Given the description of an element on the screen output the (x, y) to click on. 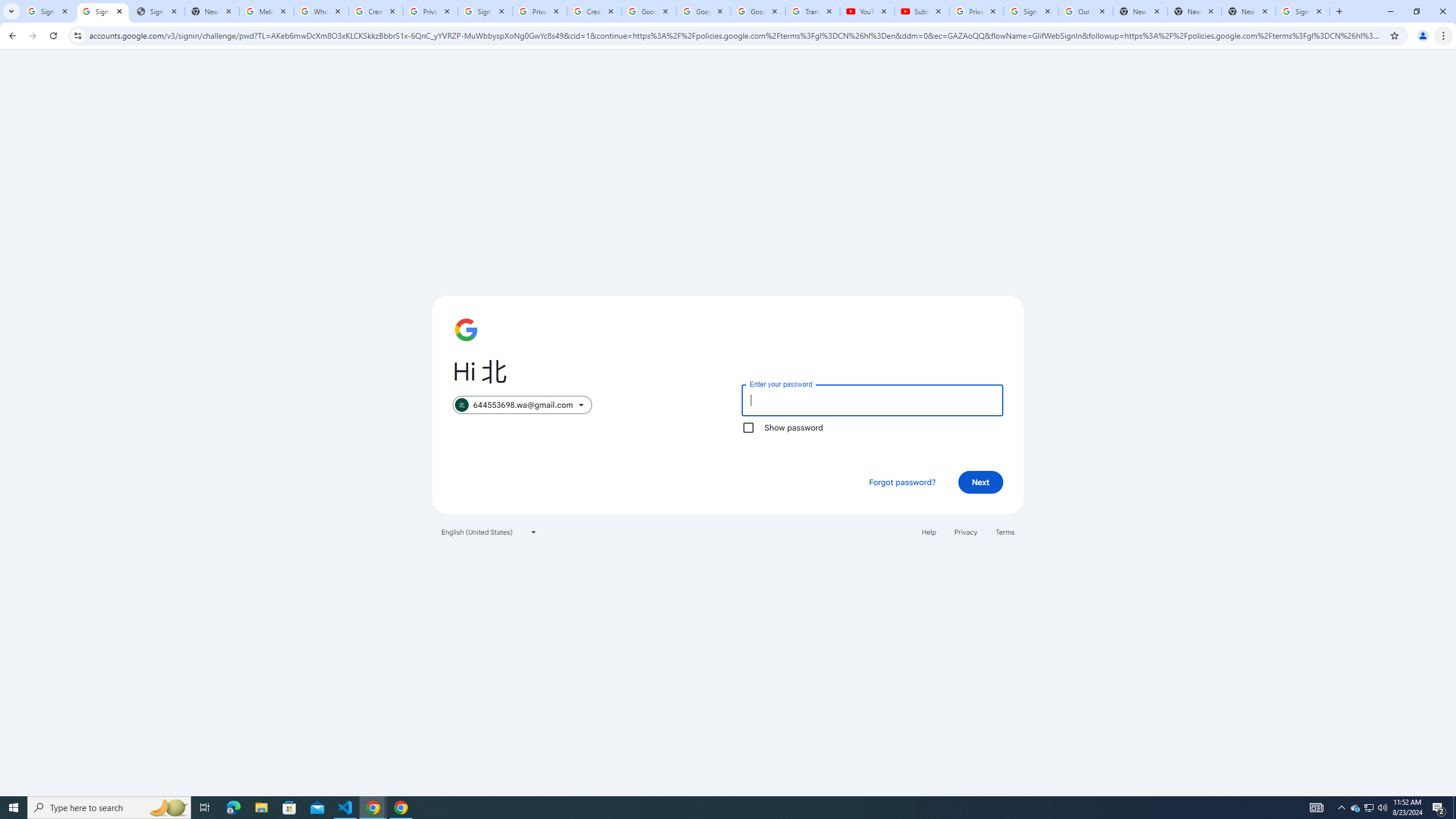
Show password (748, 427)
Next (980, 481)
Sign In - USA TODAY (157, 11)
Enter your password (871, 399)
YouTube (866, 11)
Terms (1005, 531)
English (United States) (489, 531)
New Tab (1249, 11)
